Given the description of an element on the screen output the (x, y) to click on. 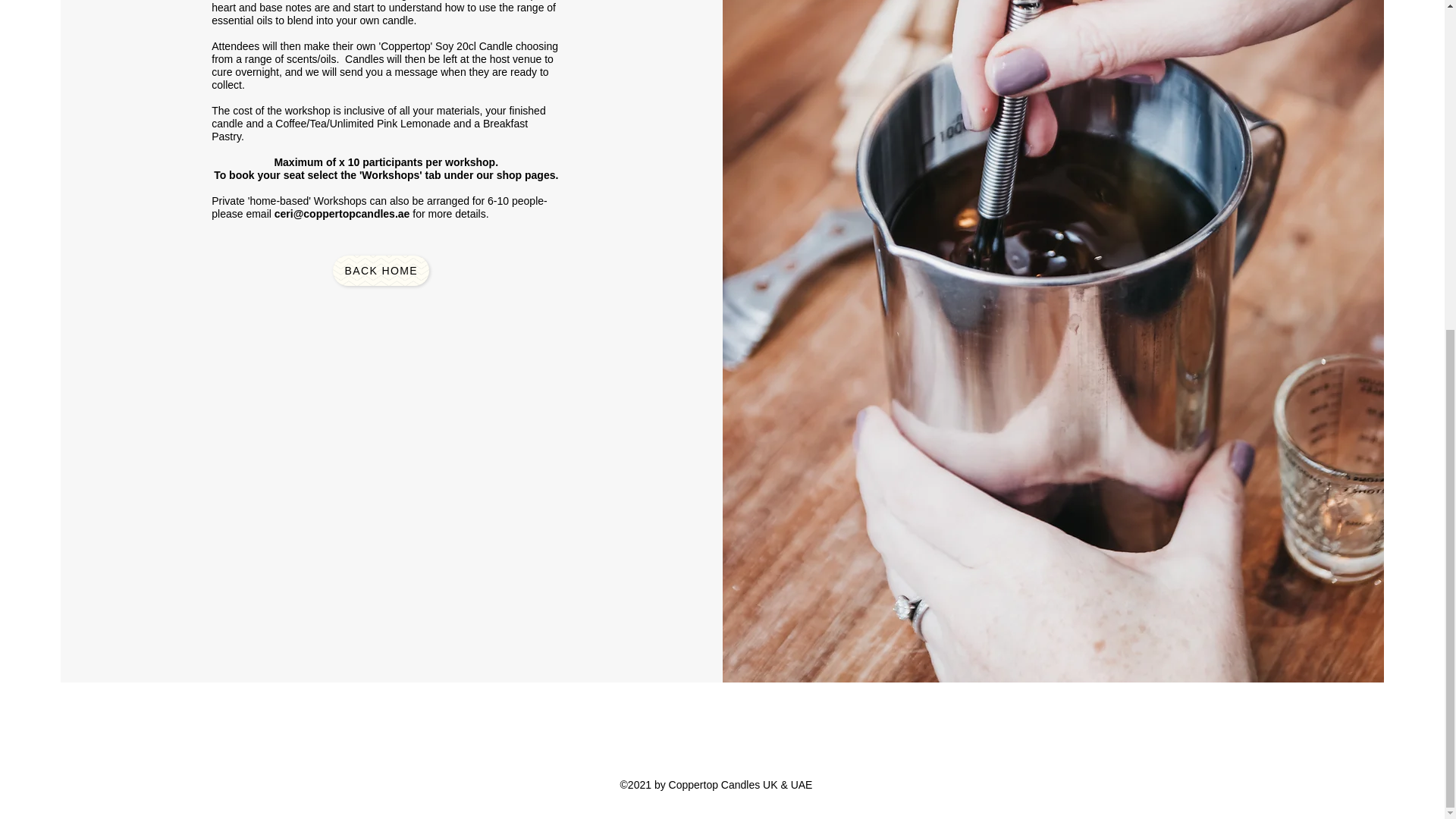
BACK HOME (381, 270)
